Given the description of an element on the screen output the (x, y) to click on. 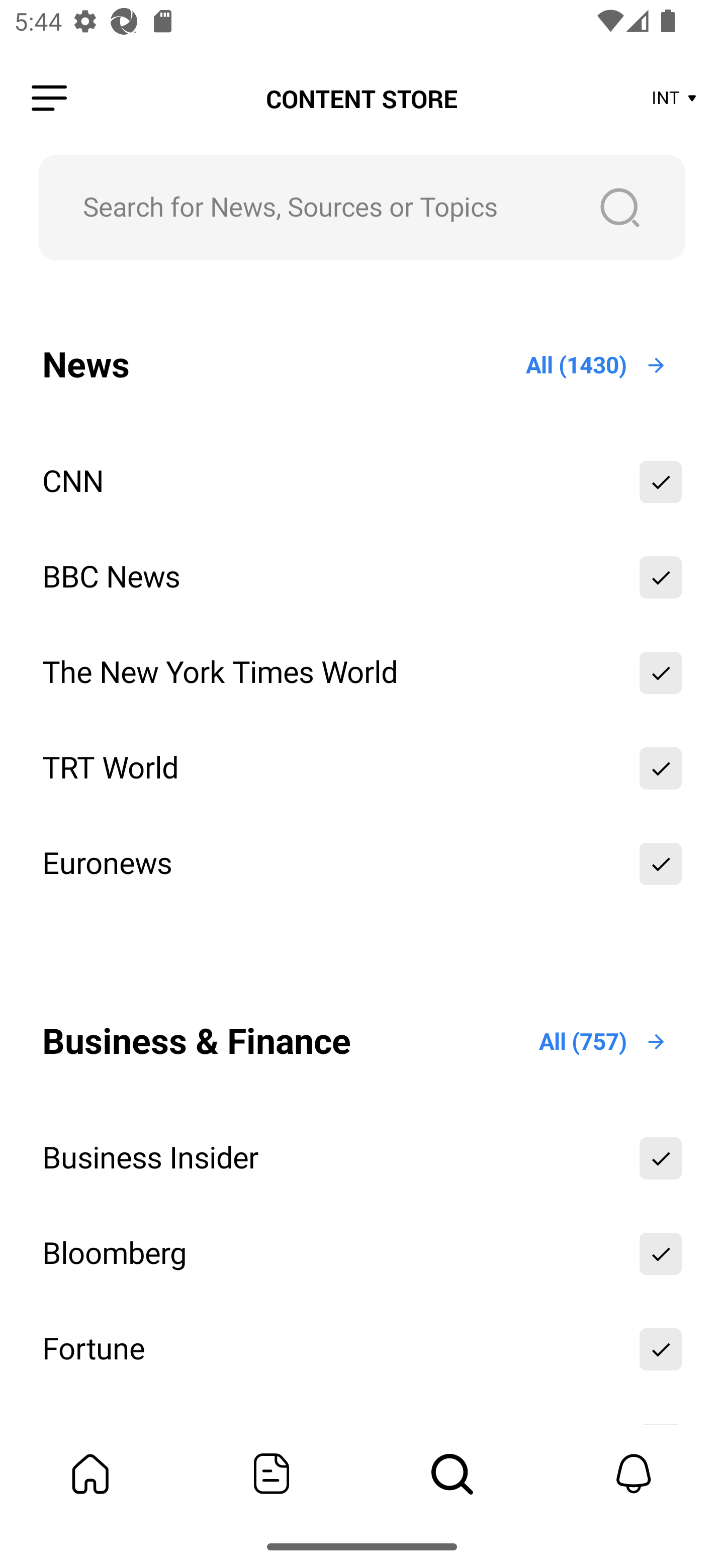
INT Store Area (674, 98)
Leading Icon (49, 98)
Search for News, Sources or Topics Search Button (361, 207)
All (1430) Open All Icon (596, 365)
CNN Add To My Bundle (361, 481)
Add To My Bundle (660, 481)
BBC News Add To My Bundle (361, 576)
Add To My Bundle (660, 576)
The New York Times World Add To My Bundle (361, 672)
Add To My Bundle (660, 672)
TRT World Add To My Bundle (361, 767)
Add To My Bundle (660, 767)
Euronews Add To My Bundle (361, 863)
Add To My Bundle (660, 863)
All (757) Open All Icon (603, 1041)
Business Insider Add To My Bundle (361, 1158)
Add To My Bundle (660, 1158)
Bloomberg Add To My Bundle (361, 1254)
Add To My Bundle (660, 1254)
Fortune Add To My Bundle (361, 1349)
Add To My Bundle (660, 1349)
My Bundle (90, 1473)
Featured (271, 1473)
Notifications (633, 1473)
